Given the description of an element on the screen output the (x, y) to click on. 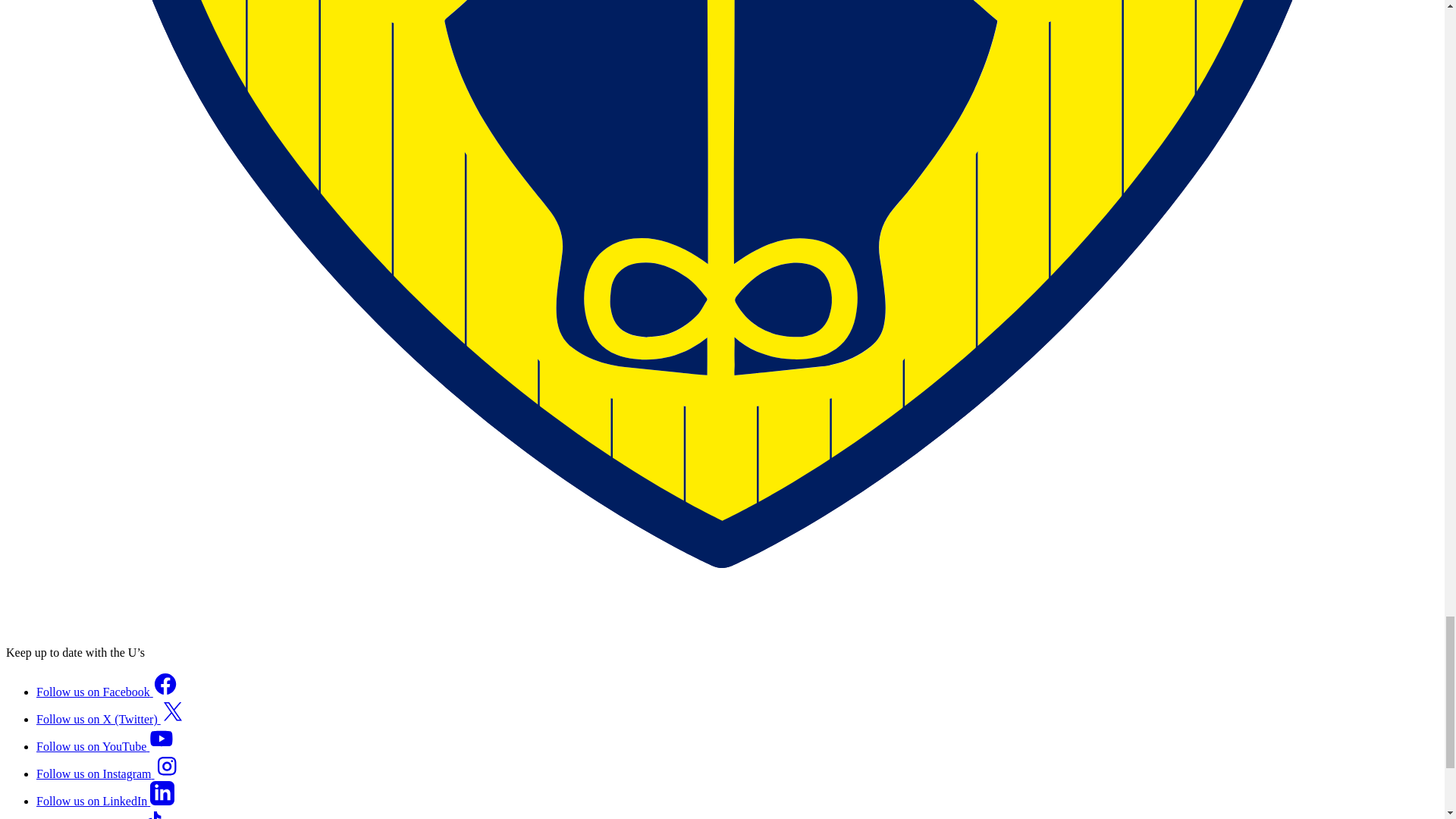
X Icon (172, 711)
